Given the description of an element on the screen output the (x, y) to click on. 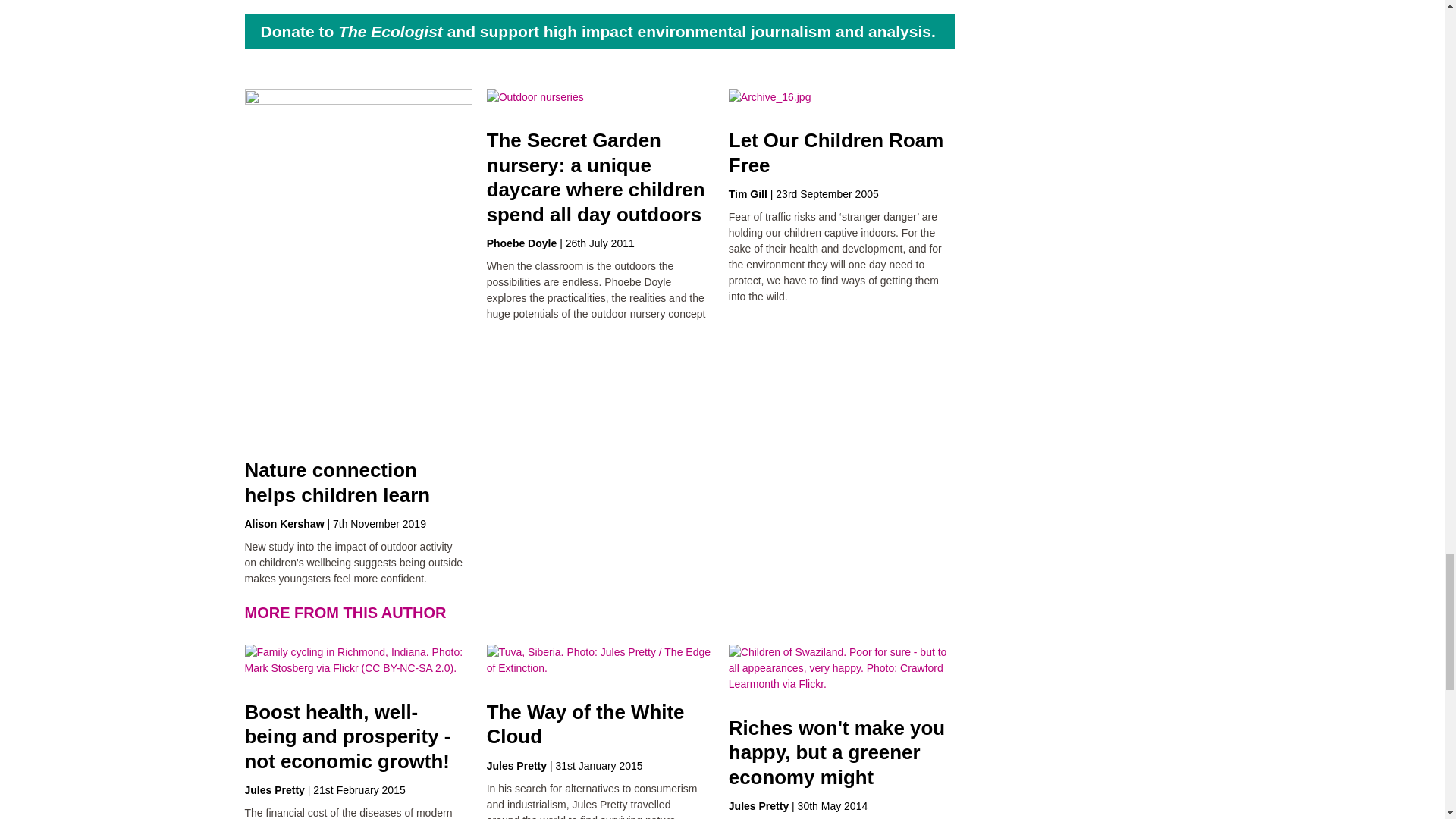
Friday, May 30, 2014 - 00:00 (832, 806)
Saturday, February 21, 2015 - 00:00 (358, 789)
Tuesday, July 26, 2011 - 00:00 (600, 243)
Saturday, January 31, 2015 - 00:00 (598, 766)
Riches won't make you happy, but a greener economy might (836, 752)
Thursday, November 7, 2019 - 07:43 (379, 523)
Friday, September 23, 2005 - 00:00 (826, 193)
Let Our Children Roam Free (836, 152)
Nature connection helps children learn (336, 482)
The Way of the White Cloud (585, 723)
